Given the description of an element on the screen output the (x, y) to click on. 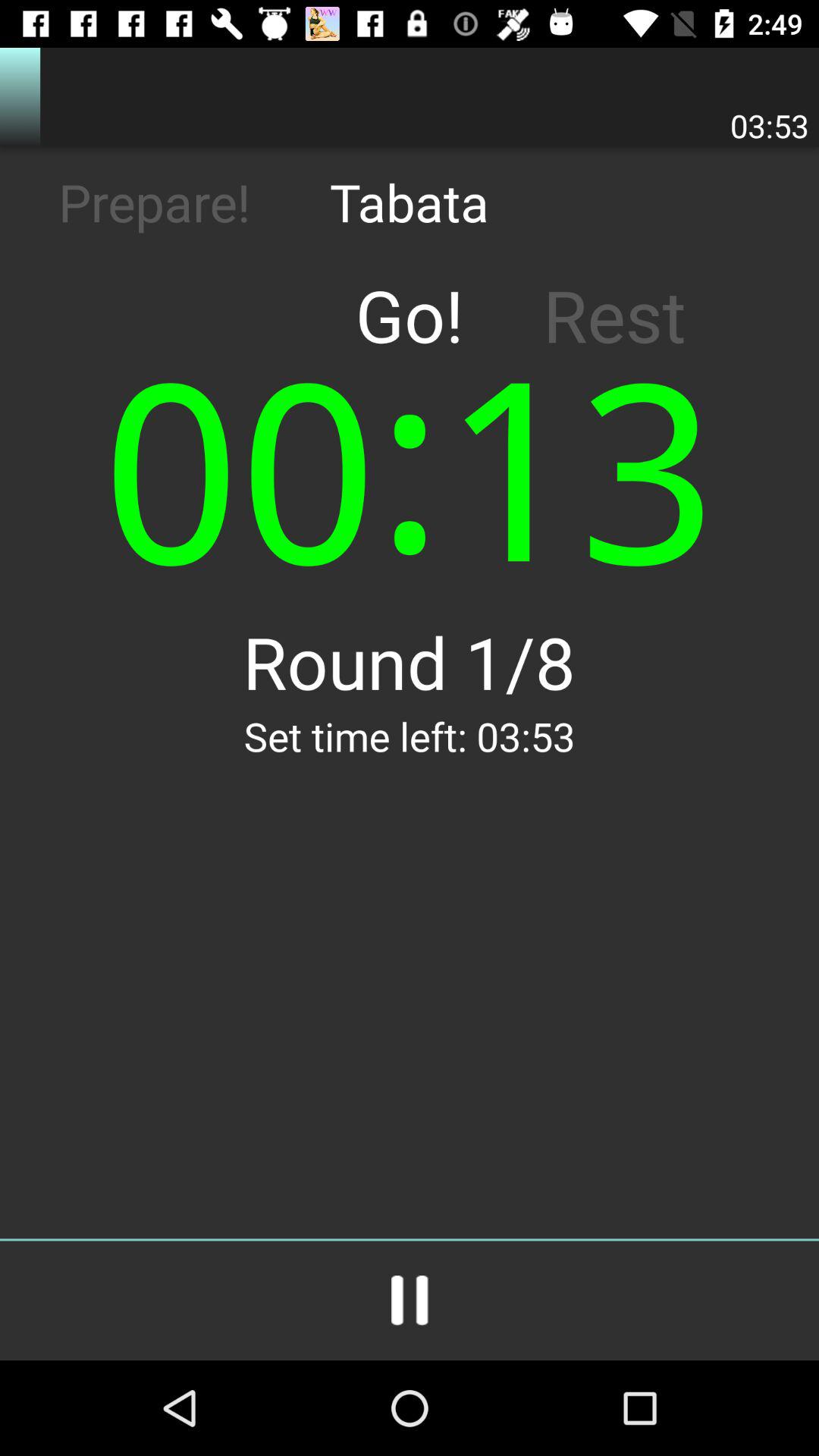
play/pause (409, 1300)
